Given the description of an element on the screen output the (x, y) to click on. 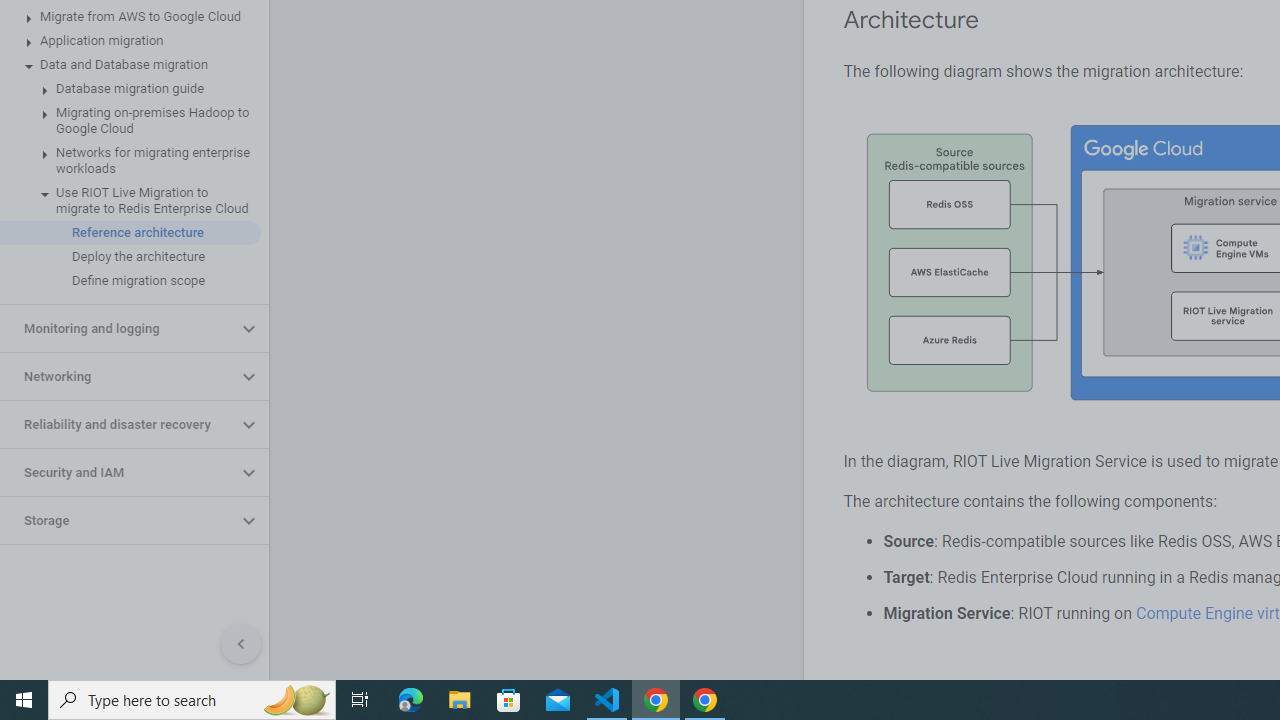
Application migration (130, 40)
Networks for migrating enterprise workloads (130, 160)
Define migration scope (130, 281)
Database migration guide (130, 88)
Monitoring and logging (118, 328)
Migrating on-premises Hadoop to Google Cloud (130, 120)
Networking (118, 376)
Hide side navigation (241, 643)
Storage (118, 520)
Deploy the architecture (130, 256)
Reliability and disaster recovery (118, 425)
Use RIOT Live Migration to migrate to Redis Enterprise Cloud (130, 200)
Copy link to this section: Architecture (997, 20)
Reference architecture (130, 232)
